Given the description of an element on the screen output the (x, y) to click on. 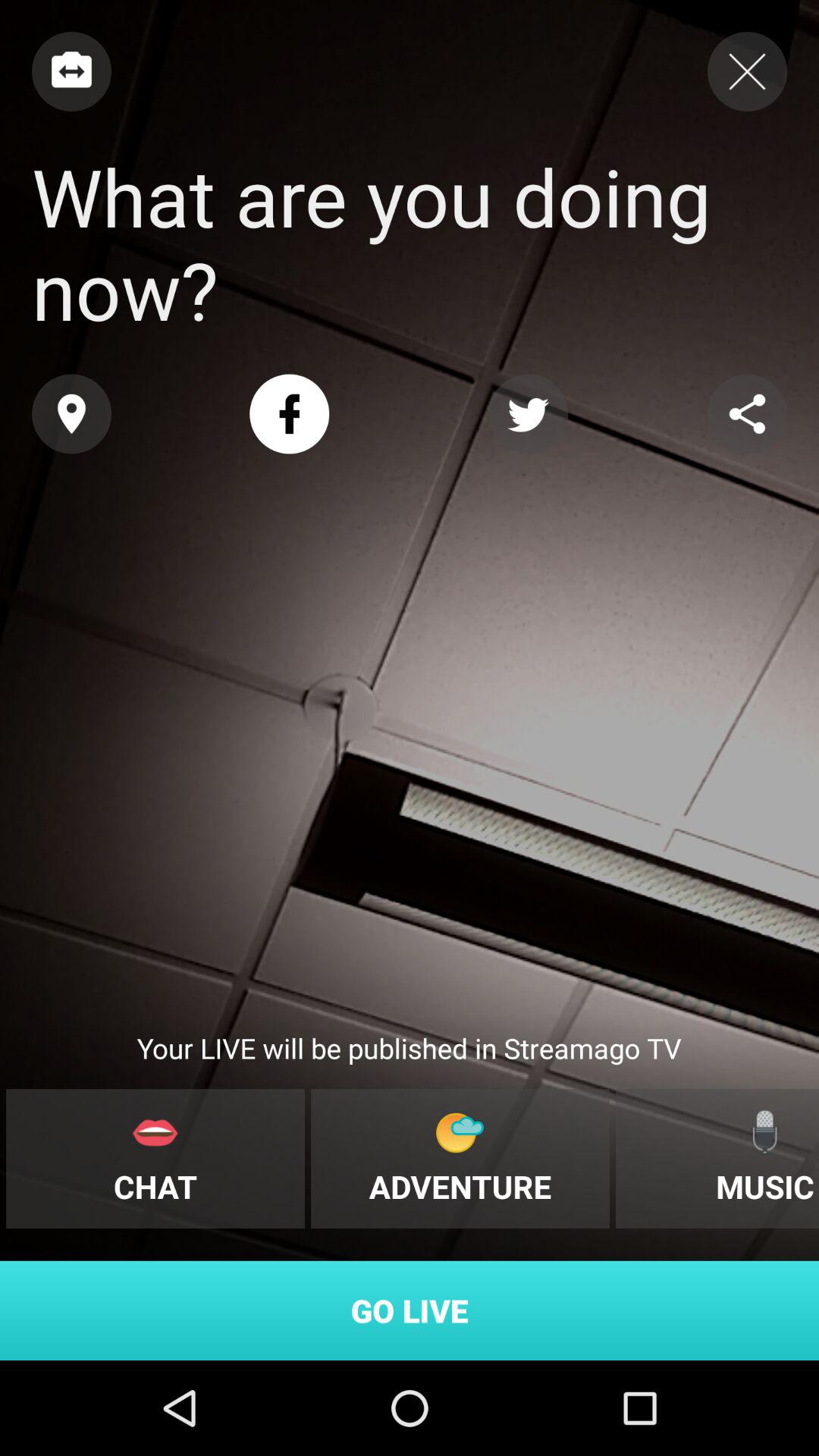
more share options (747, 413)
